Given the description of an element on the screen output the (x, y) to click on. 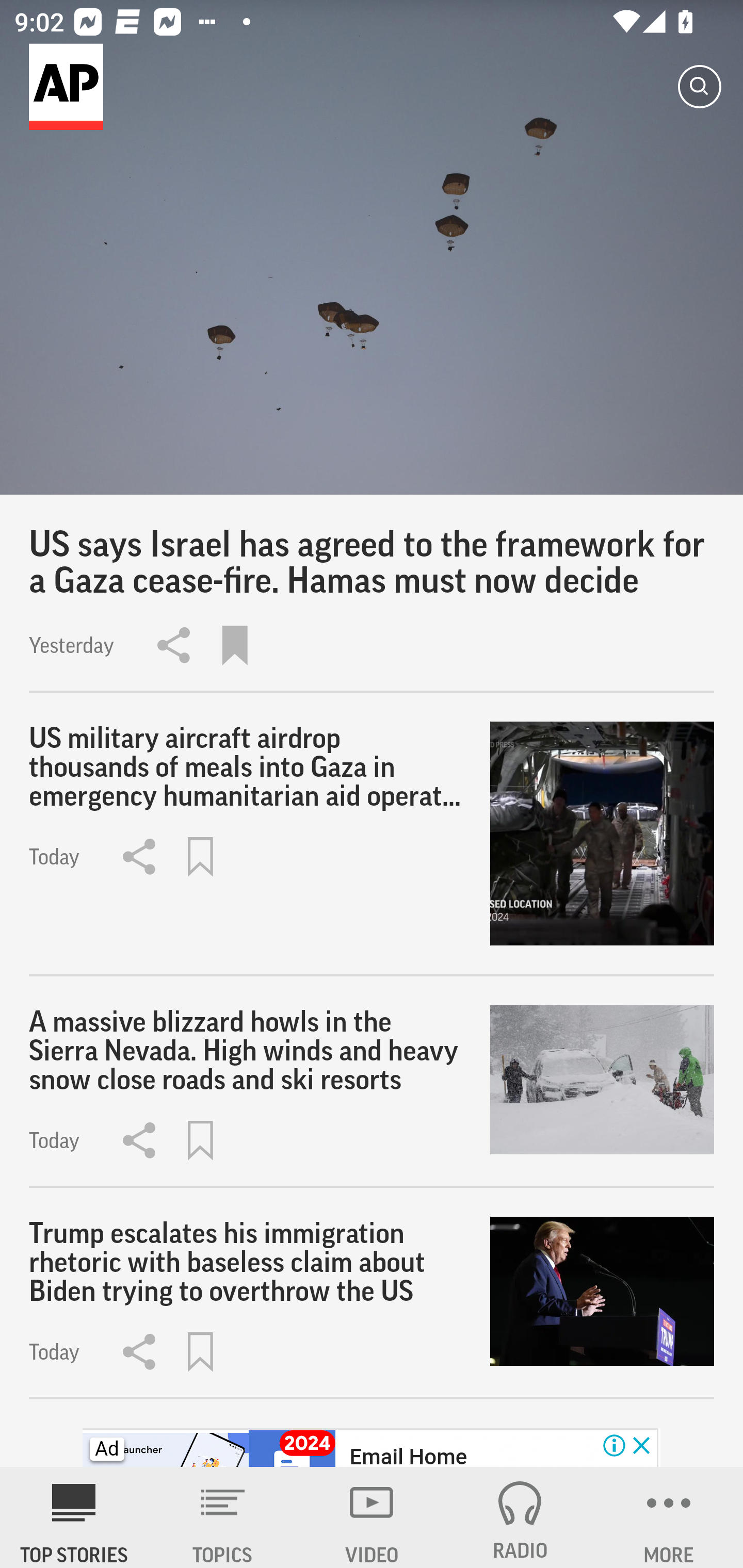
Email Home (407, 1454)
AP News TOP STORIES (74, 1517)
TOPICS (222, 1517)
VIDEO (371, 1517)
RADIO (519, 1517)
MORE (668, 1517)
